Given the description of an element on the screen output the (x, y) to click on. 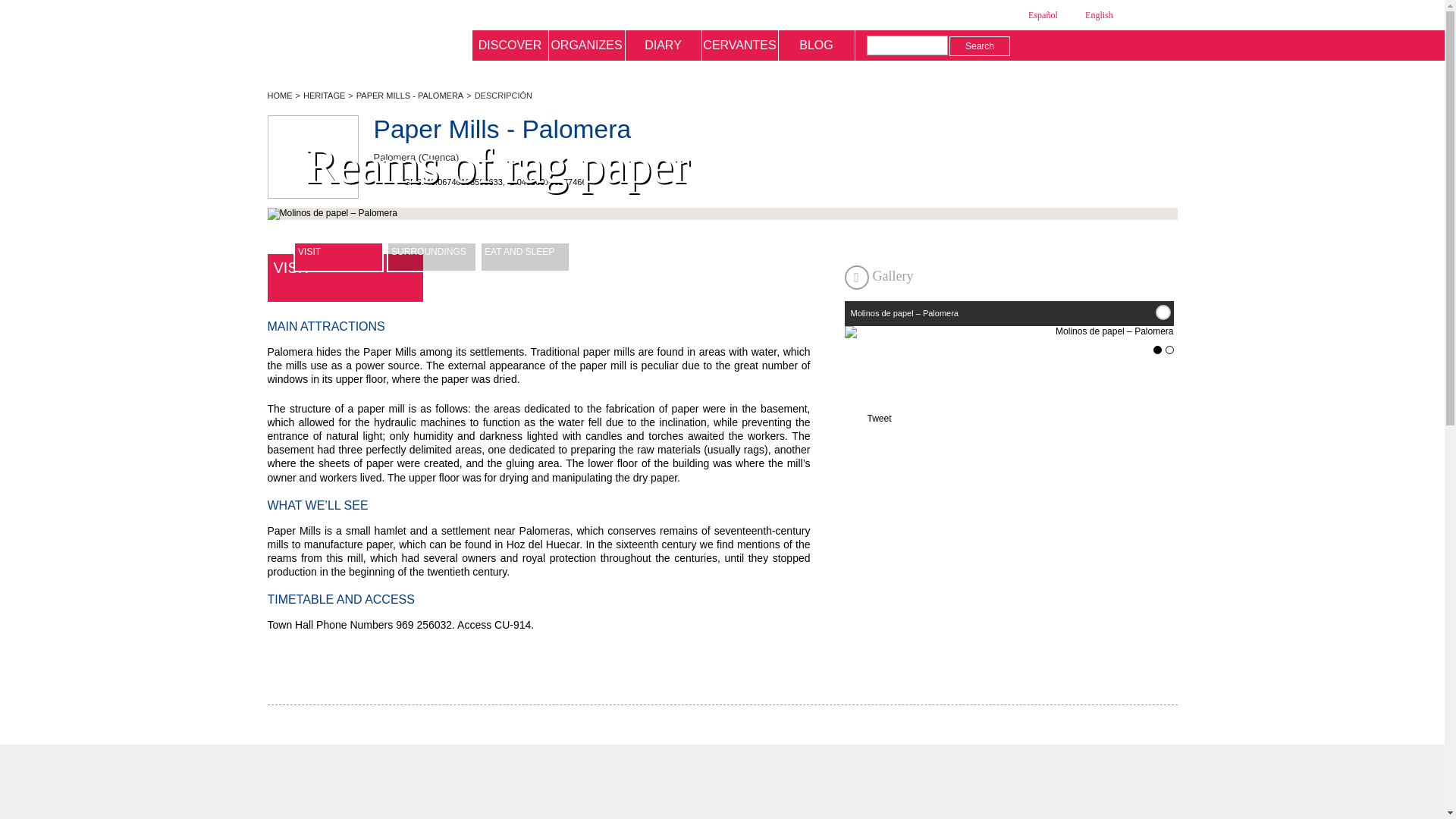
English (1090, 15)
CERVANTES (739, 45)
Search (979, 46)
yt (1077, 45)
Coordenadas Paper Mills - Palomera (479, 182)
BLOG (815, 45)
Texto a buscar (906, 45)
in (1100, 45)
HOME (279, 94)
SURROUNDINGS (432, 256)
GPS: 40.06740188598633, -2.049060106277466 (479, 182)
ORGANIZES (587, 45)
fb (1032, 45)
DISCOVER (509, 45)
mas (1163, 312)
